Given the description of an element on the screen output the (x, y) to click on. 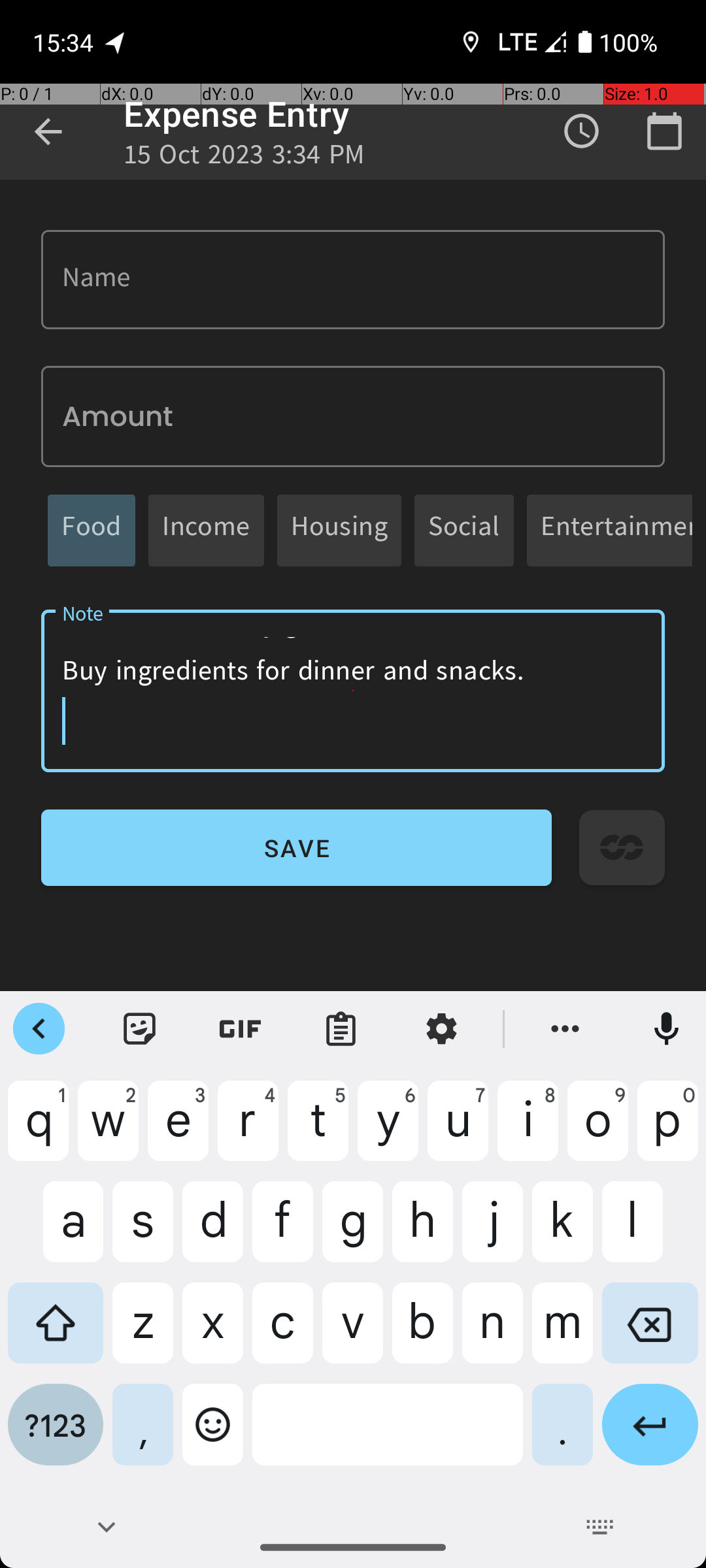
Remember to buy groceries for the week.
Buy ingredients for dinner and snacks.
 Element type: android.widget.EditText (352, 690)
